Given the description of an element on the screen output the (x, y) to click on. 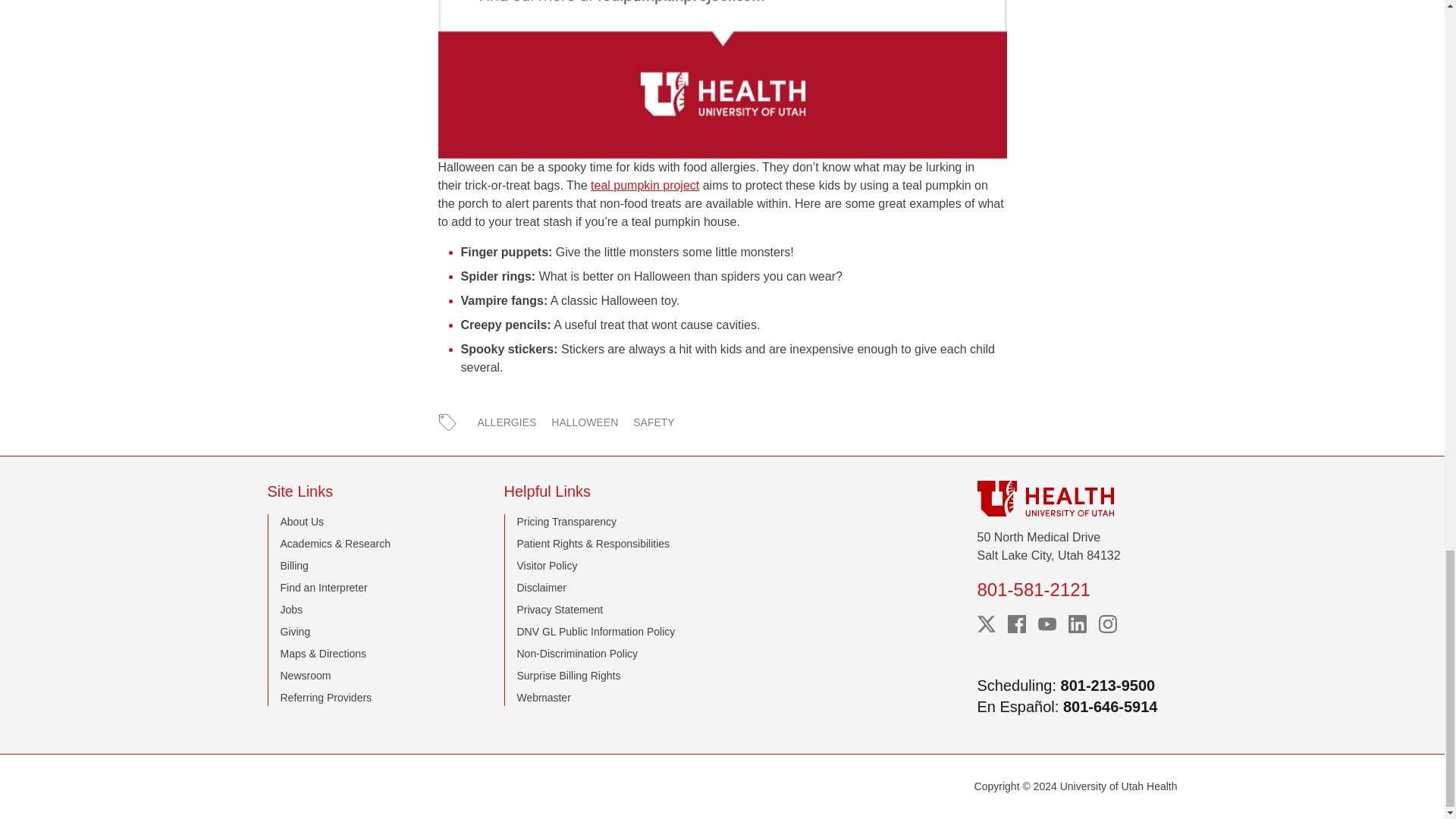
ALLERGIES (507, 422)
University of Utah Healthcare (1076, 498)
teal pumpkin project (644, 185)
HALLOWEEN (584, 422)
SAFETY (653, 422)
